Given the description of an element on the screen output the (x, y) to click on. 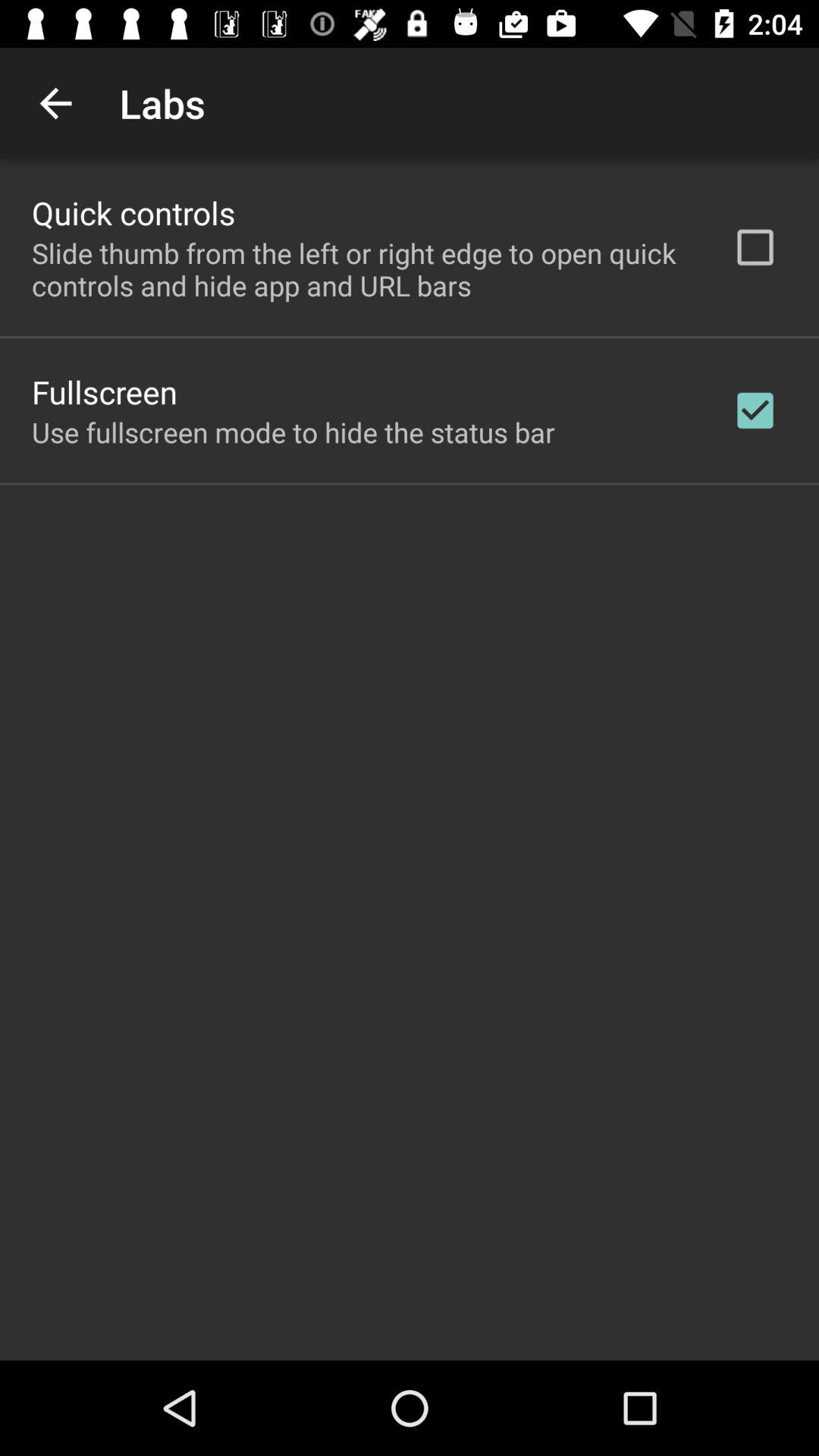
choose icon to the left of the labs (55, 103)
